Given the description of an element on the screen output the (x, y) to click on. 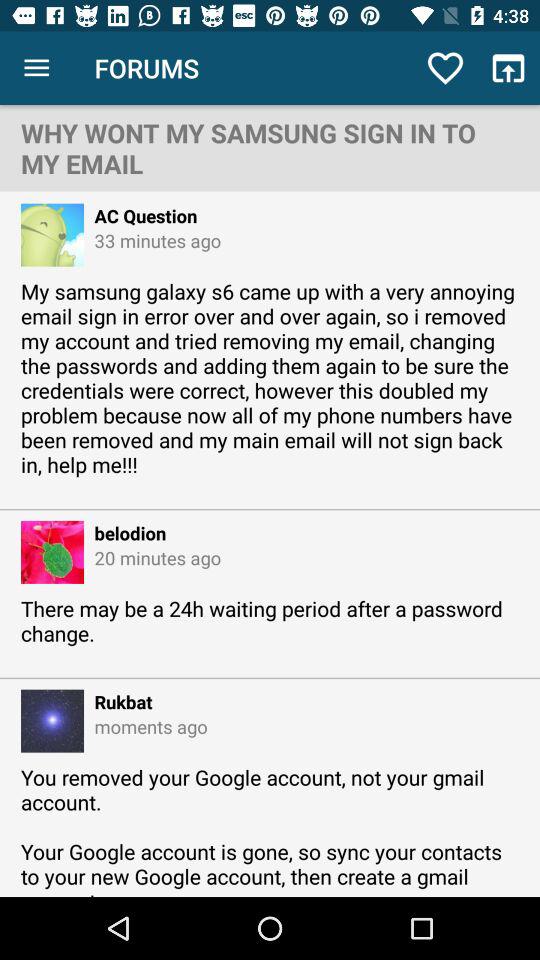
press icon below the why wont my (140, 215)
